Given the description of an element on the screen output the (x, y) to click on. 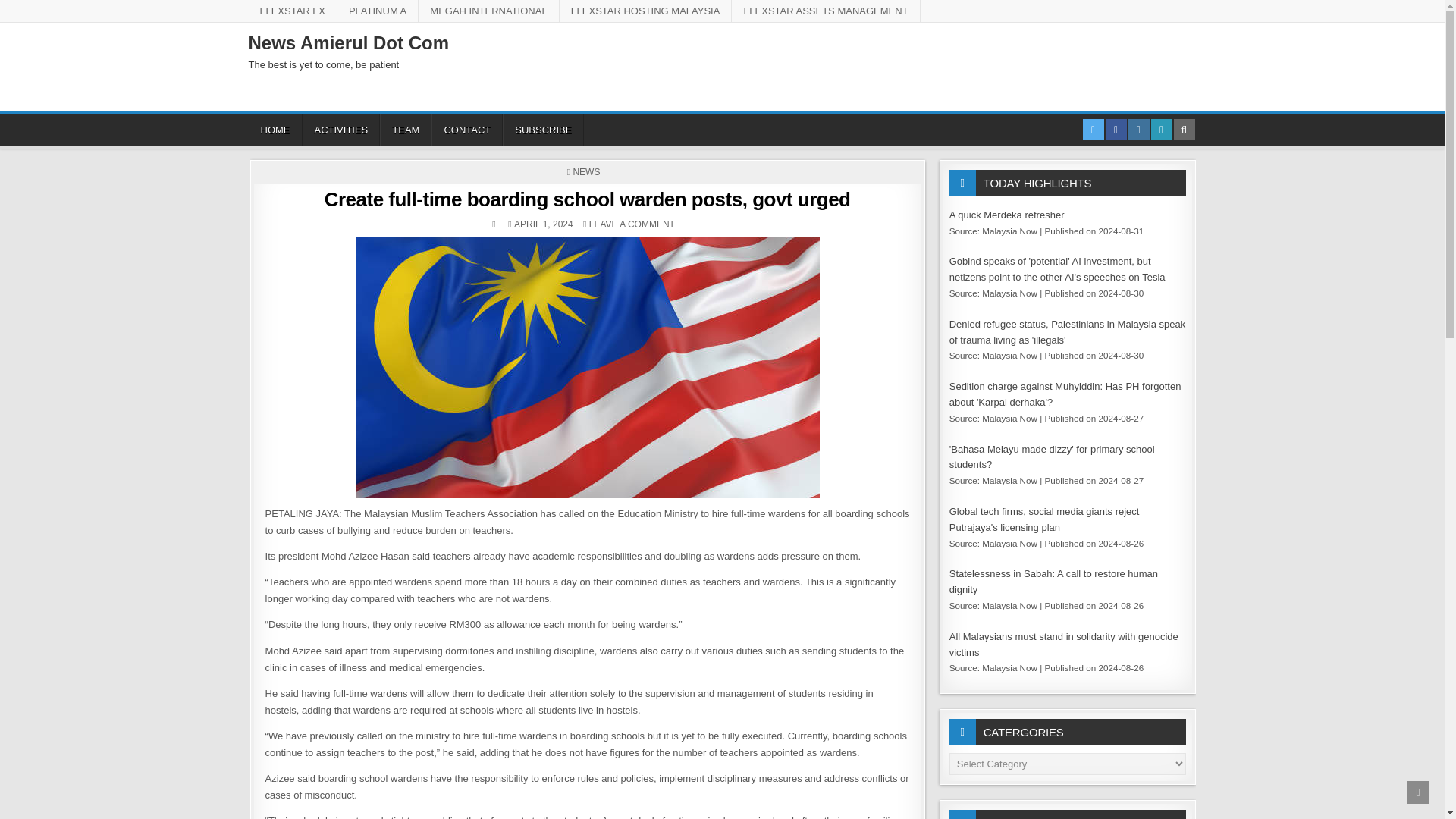
Create full-time boarding school warden posts, govt urged (587, 199)
CONTACT (466, 129)
HOME (275, 129)
PLATINUM A (378, 11)
FLEXSTAR FX (292, 11)
Scroll to Top (1417, 792)
A quick Merdeka refresher (1006, 214)
